Given the description of an element on the screen output the (x, y) to click on. 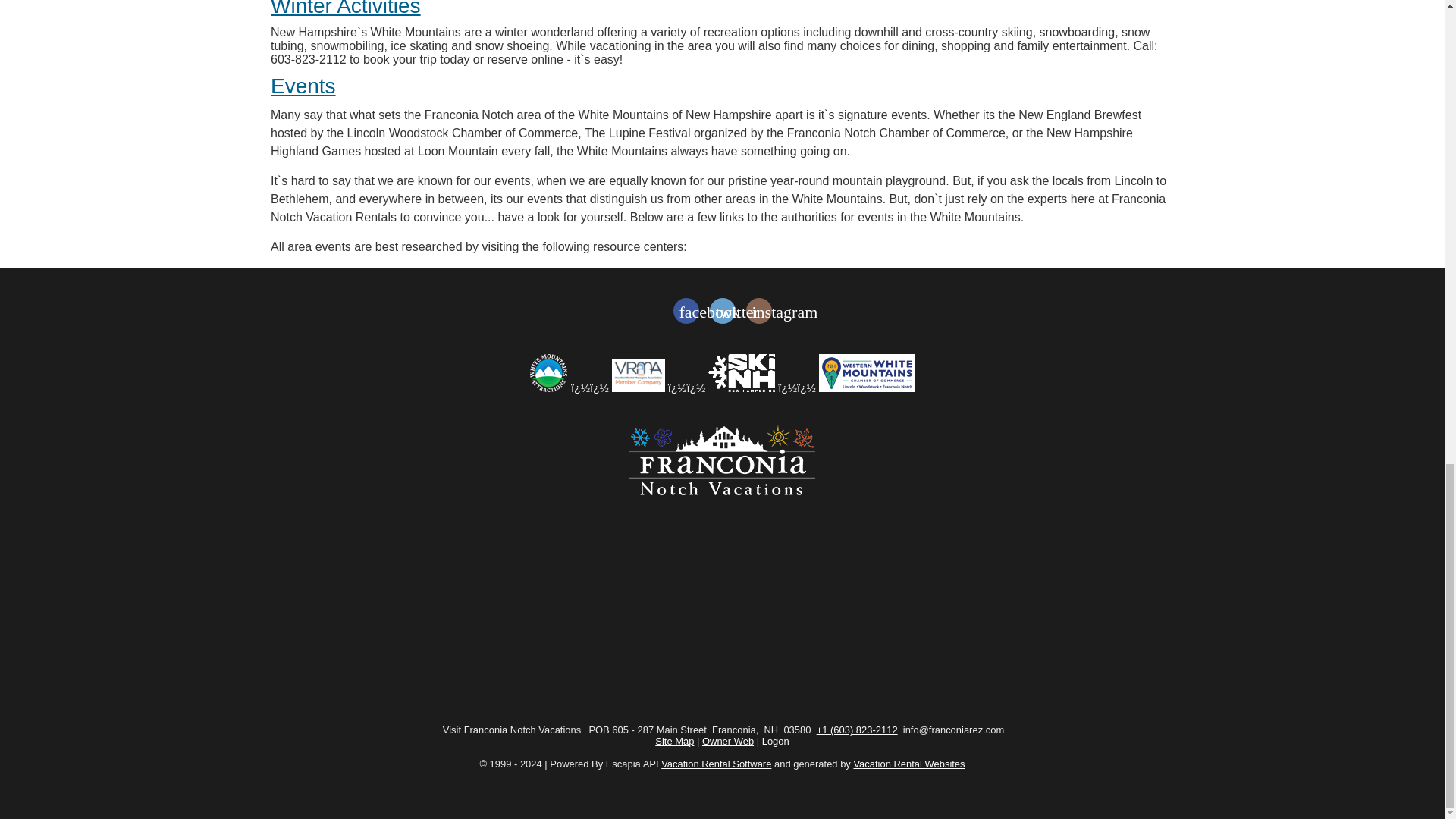
instagram (758, 310)
Vacation Rental Software (716, 763)
Events (303, 85)
facebook (685, 310)
Winter Activities (345, 8)
twitter (722, 310)
Owner Web (727, 740)
Site Map (674, 740)
Weather: Franconia, NH (722, 614)
Logon (775, 740)
